Given the description of an element on the screen output the (x, y) to click on. 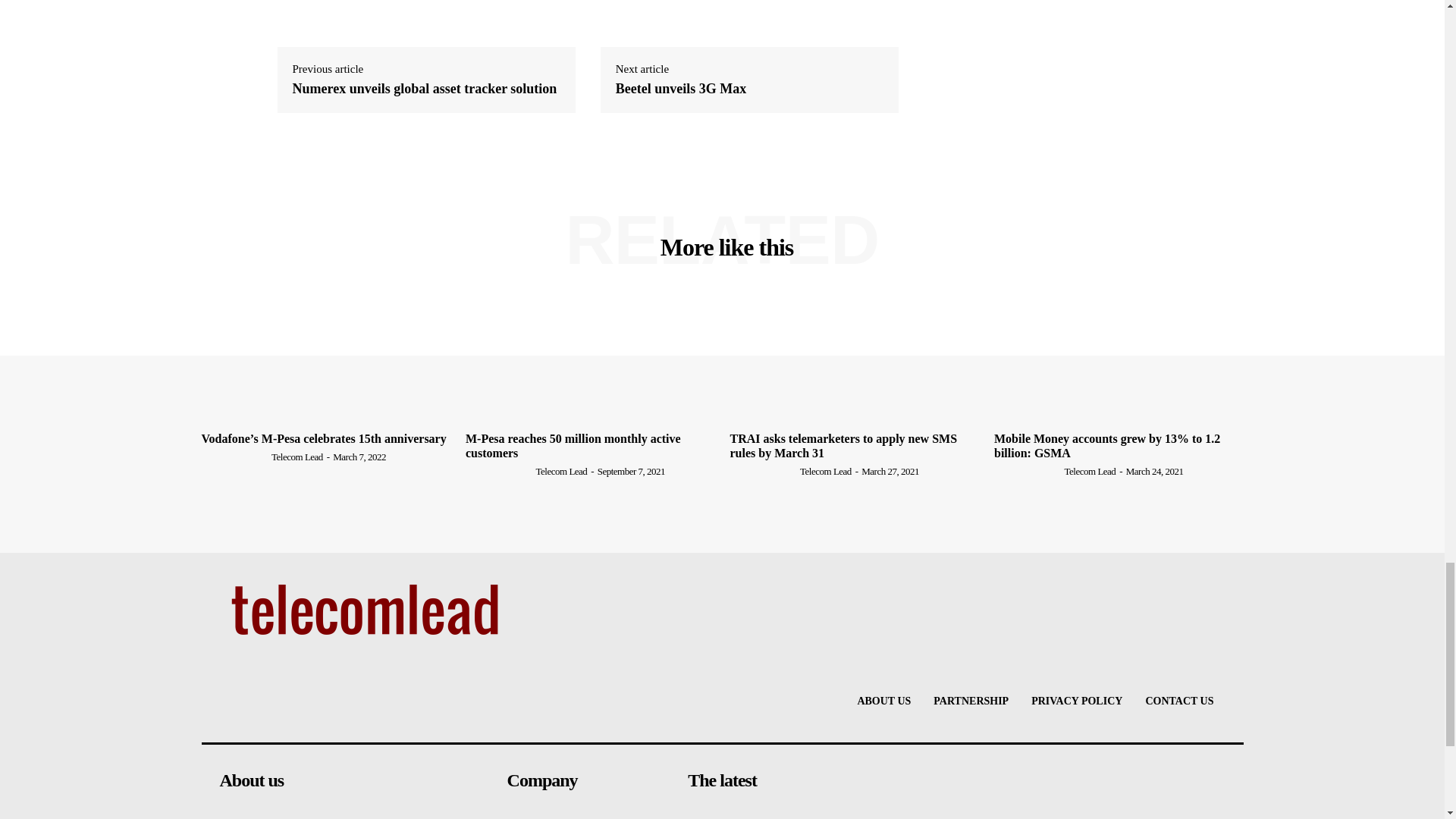
M-Pesa reaches 50 million monthly active customers (573, 445)
TRAI asks telemarketers to apply new SMS rules by March 31 (853, 359)
Beetel unveils 3G Max (680, 89)
Numerex unveils global asset tracker solution (424, 89)
M-Pesa reaches 50 million monthly active customers (589, 359)
